Given the description of an element on the screen output the (x, y) to click on. 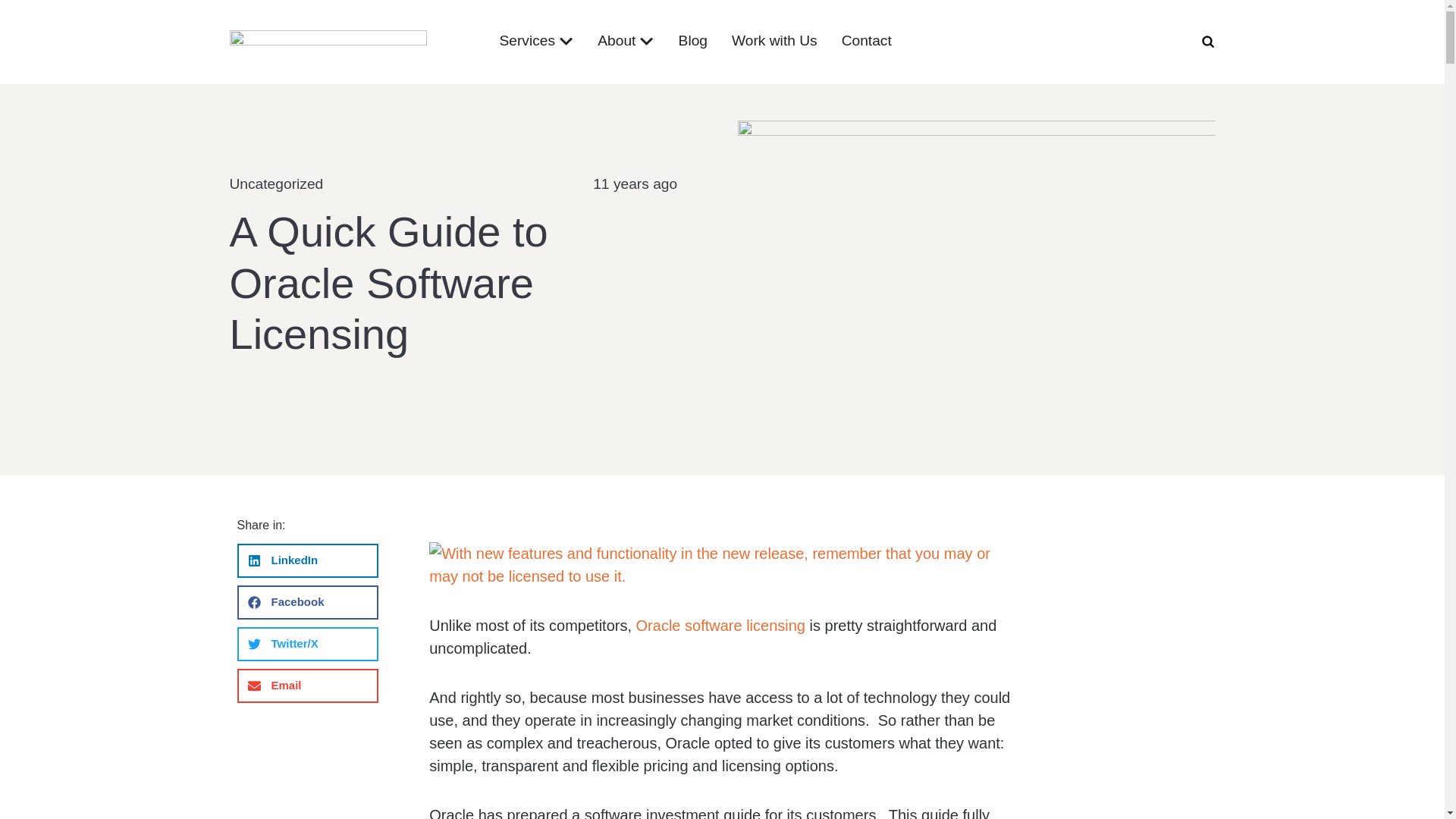
Blog (692, 41)
Contact (866, 41)
Uncategorized (275, 183)
Oracle software licensing (720, 625)
Work with Us (774, 41)
